Given the description of an element on the screen output the (x, y) to click on. 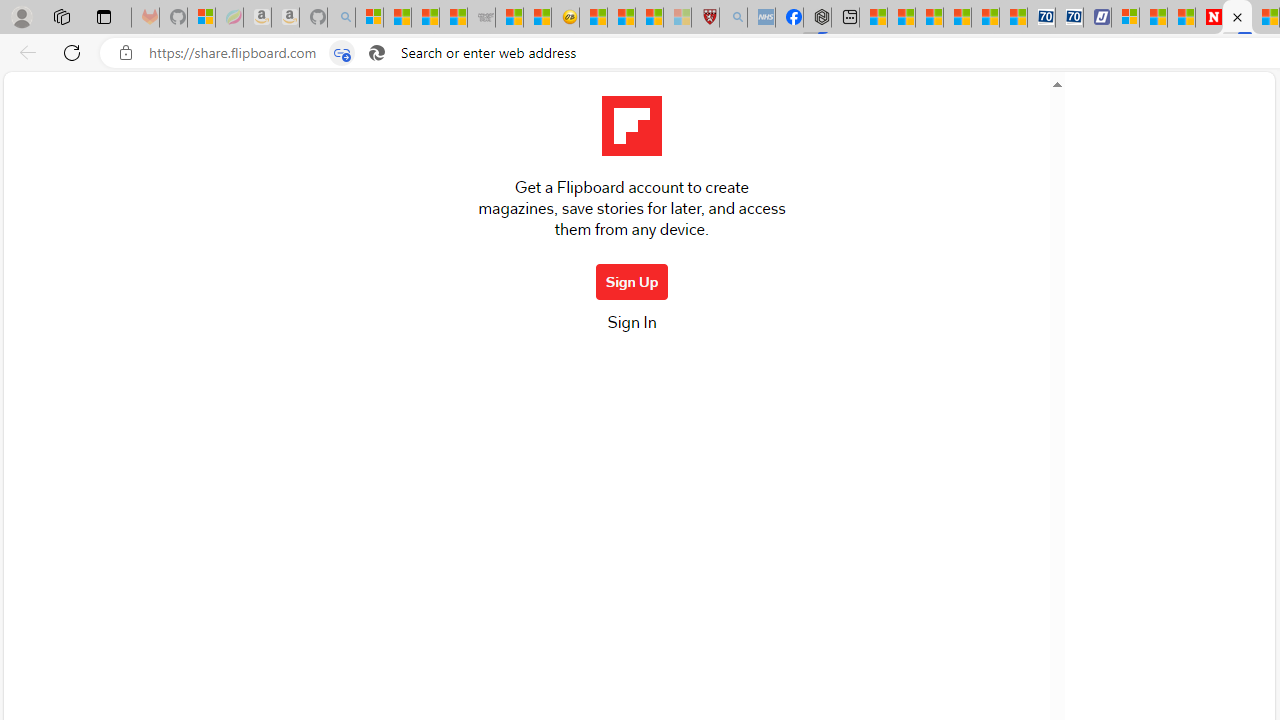
Tabs in split screen (341, 53)
Recipes - MSN (592, 17)
Search icon (376, 53)
Class: logo (631, 125)
Science - MSN (649, 17)
Sign Up (632, 282)
